Given the description of an element on the screen output the (x, y) to click on. 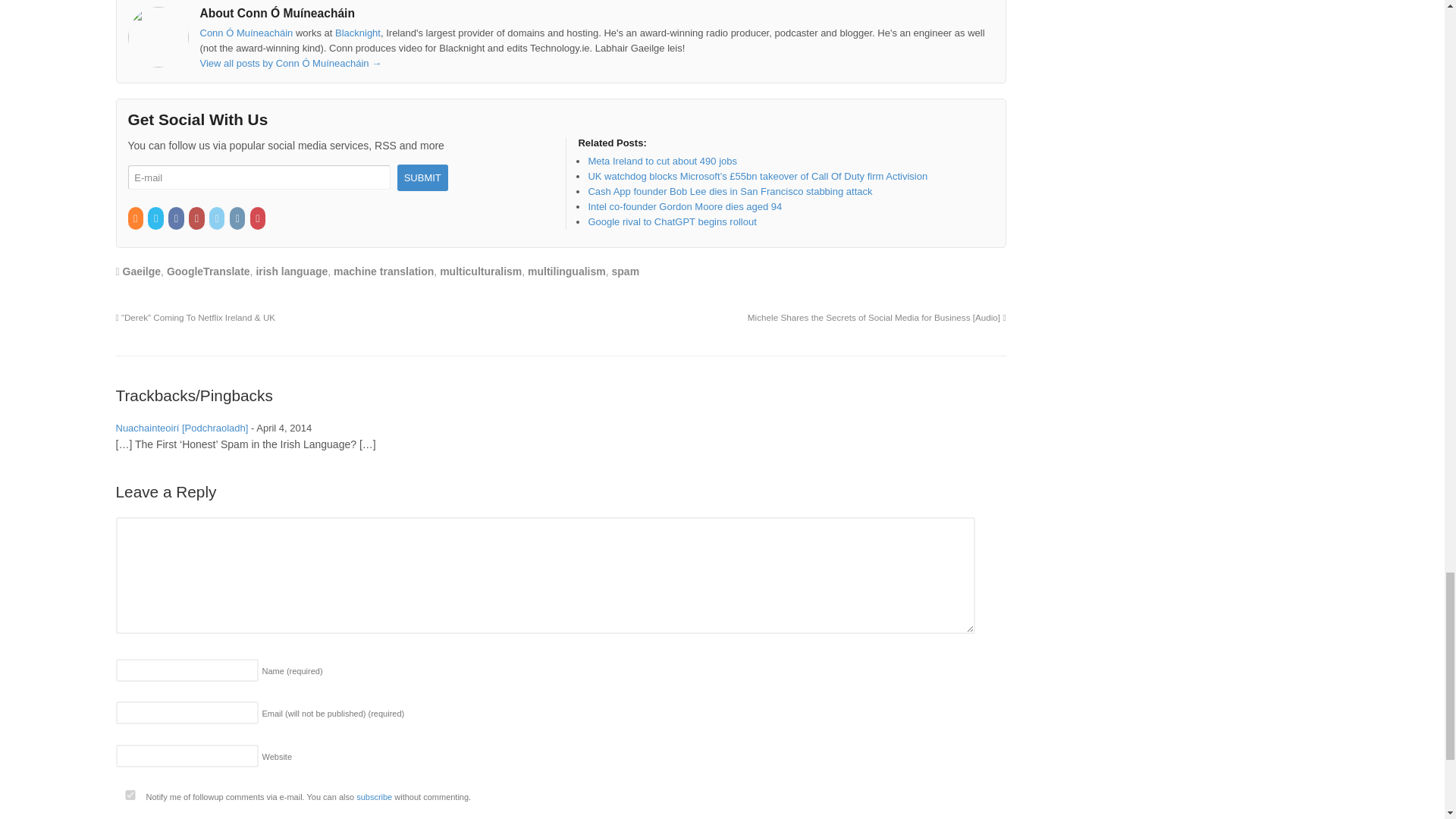
LinkedIn (218, 218)
E-mail (259, 177)
RSS (136, 218)
Blacknight (357, 32)
Twitter (156, 218)
Submit (422, 177)
Facebook (177, 218)
YouTube (197, 218)
yes (129, 795)
Submit (422, 177)
